Given the description of an element on the screen output the (x, y) to click on. 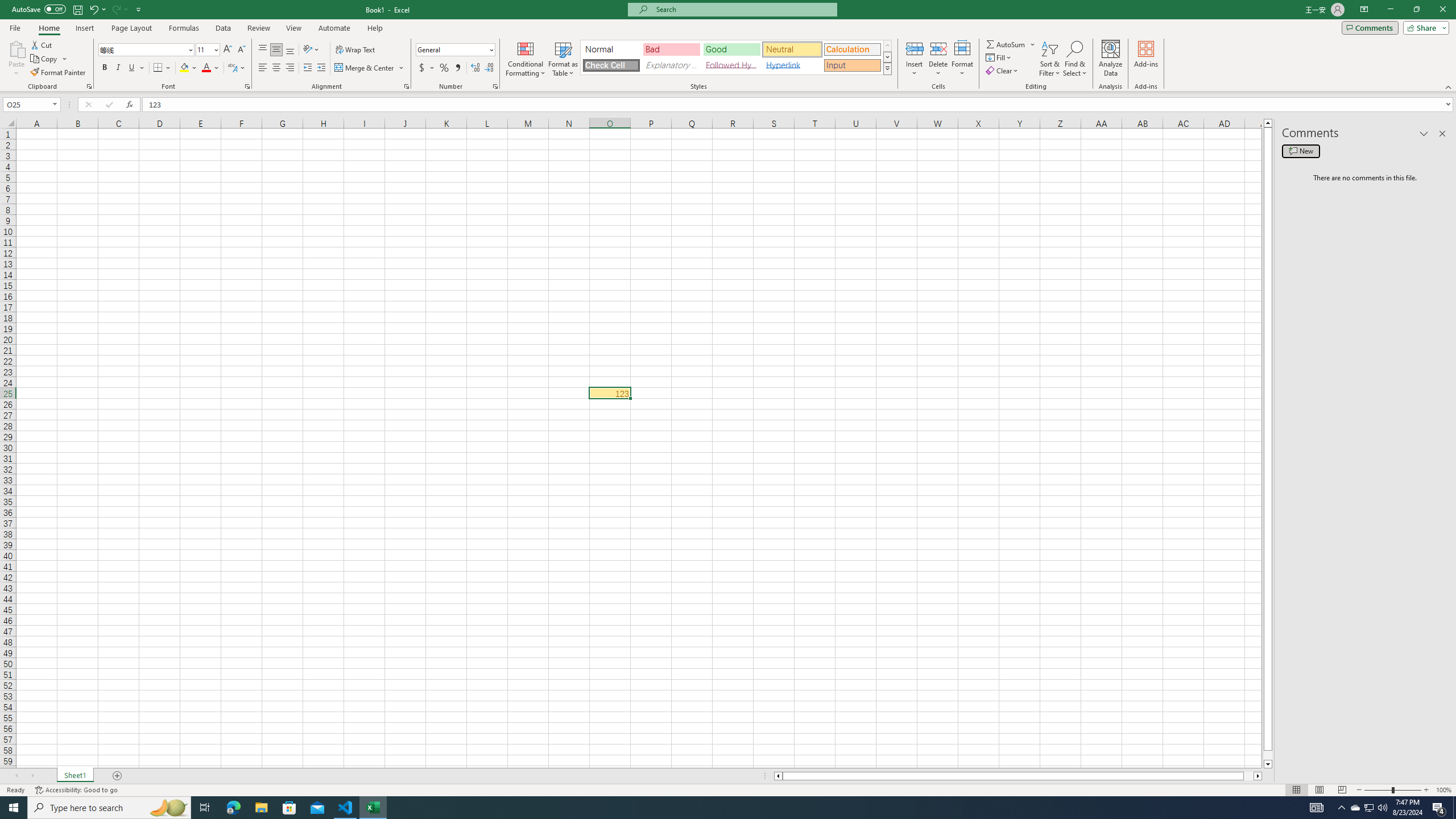
Page Layout (131, 28)
Name Box (30, 104)
Scroll Left (16, 775)
Calculation (852, 49)
Show Phonetic Field (236, 67)
System (6, 6)
Decrease Indent (307, 67)
Underline (131, 67)
Fill Color (188, 67)
Decrease Font Size (240, 49)
Automate (334, 28)
Comma Style (457, 67)
Redo (119, 9)
Copy (45, 58)
